Given the description of an element on the screen output the (x, y) to click on. 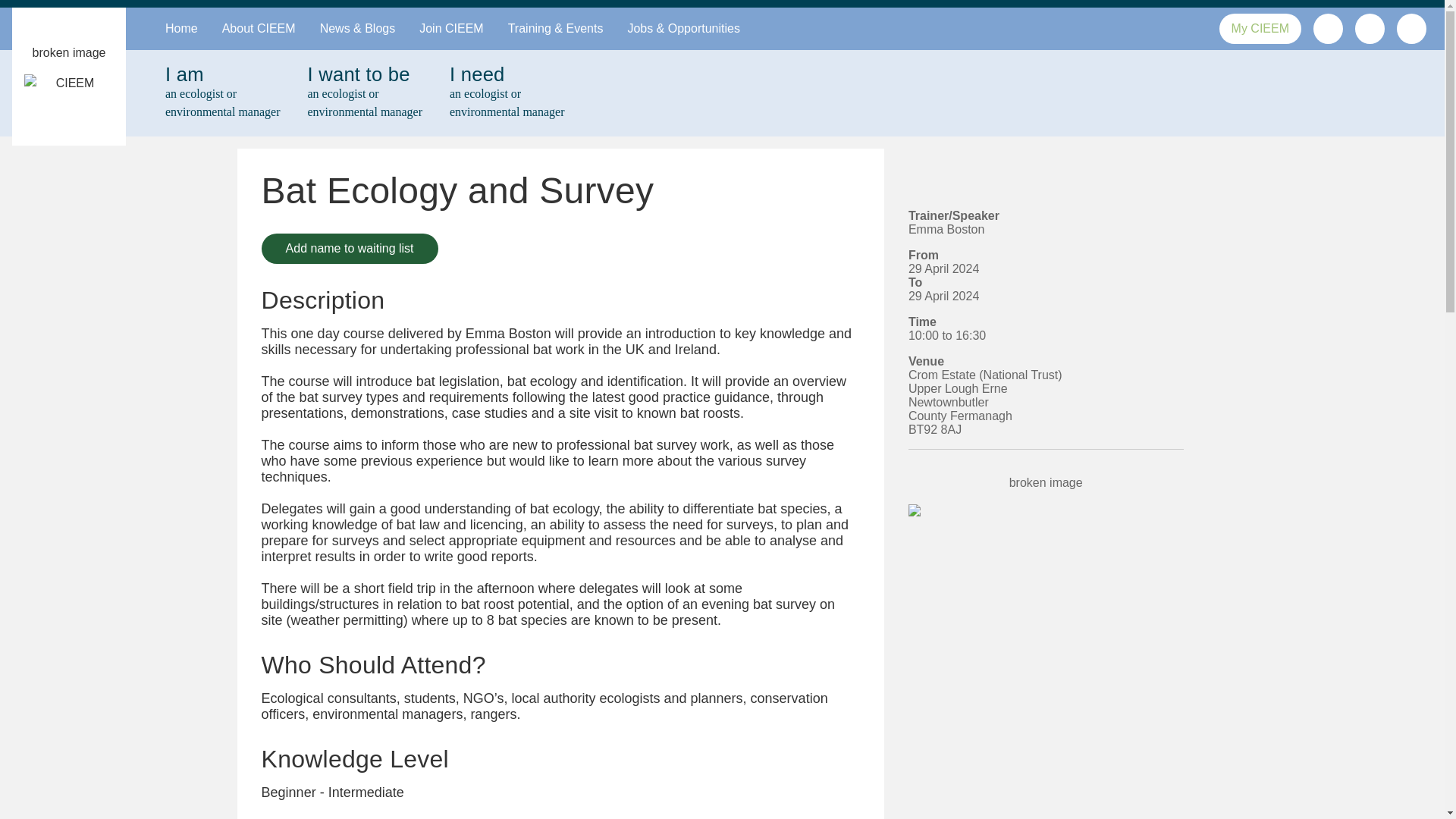
Add name to waiting list (350, 248)
Linkedin (1369, 27)
Twitter (1327, 27)
Home (180, 28)
Facebook (1412, 27)
Linkedin (220, 92)
Add name to waiting list (1369, 28)
Twitter (350, 248)
Facebook (1327, 28)
Join CIEEM (1411, 28)
About CIEEM (451, 28)
My CIEEM (363, 92)
